Given the description of an element on the screen output the (x, y) to click on. 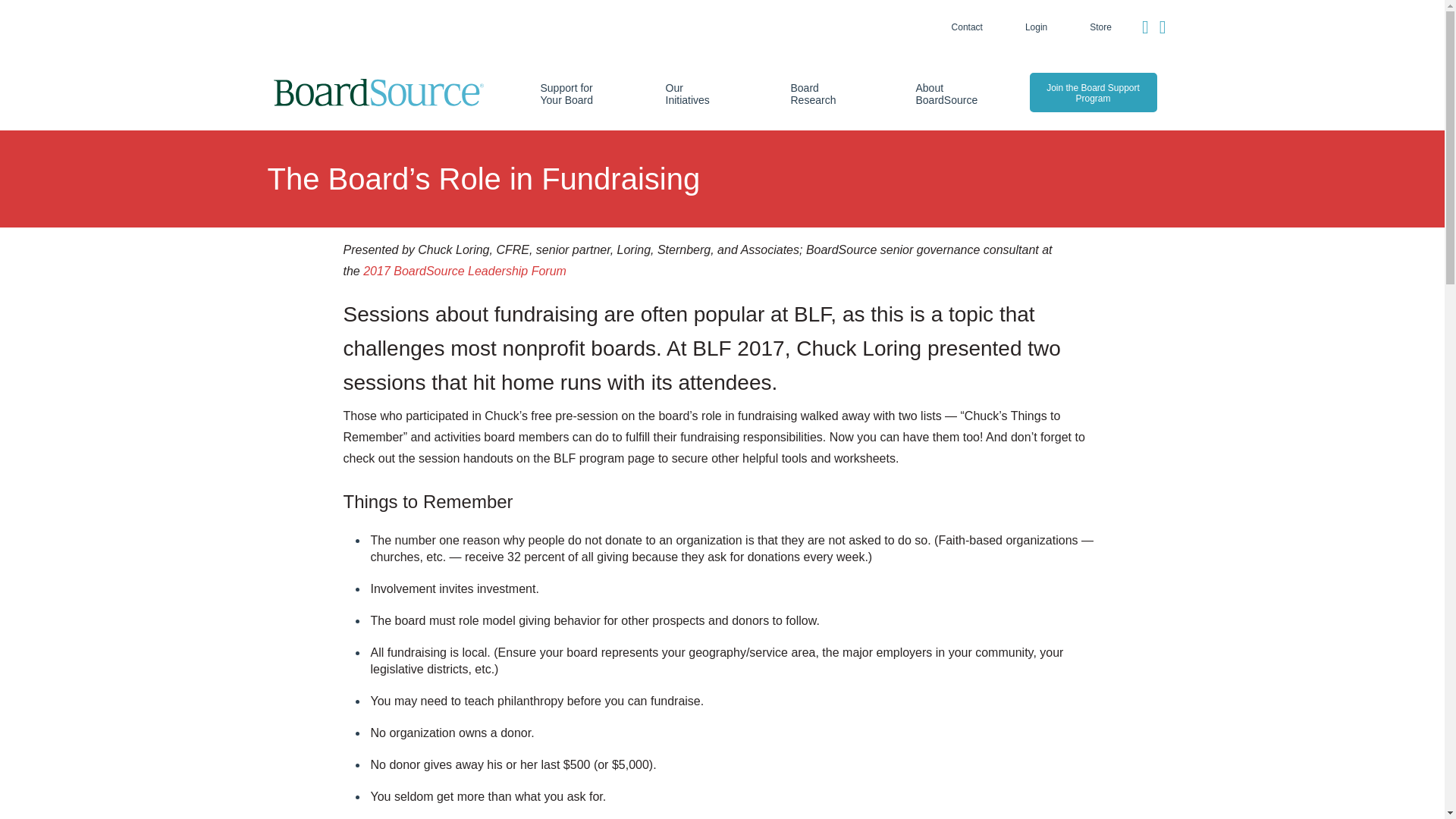
Board Research (818, 93)
About BoardSource (943, 93)
Our Initiatives (693, 93)
Support for Your Board (568, 93)
Store (1100, 26)
Contact (967, 26)
Join the Board Support Program (1093, 92)
Login (1035, 26)
